Given the description of an element on the screen output the (x, y) to click on. 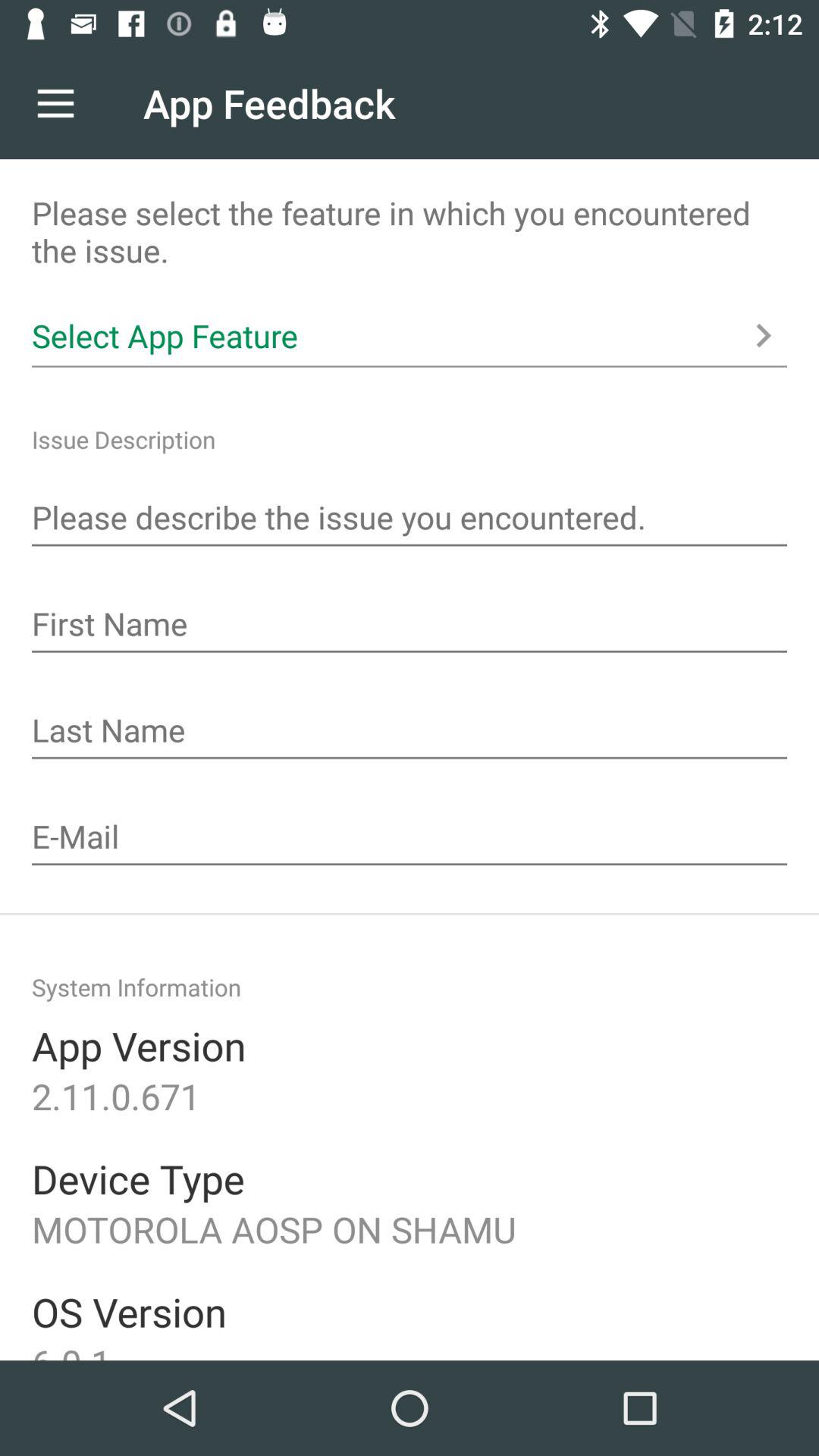
enter a message (409, 519)
